Given the description of an element on the screen output the (x, y) to click on. 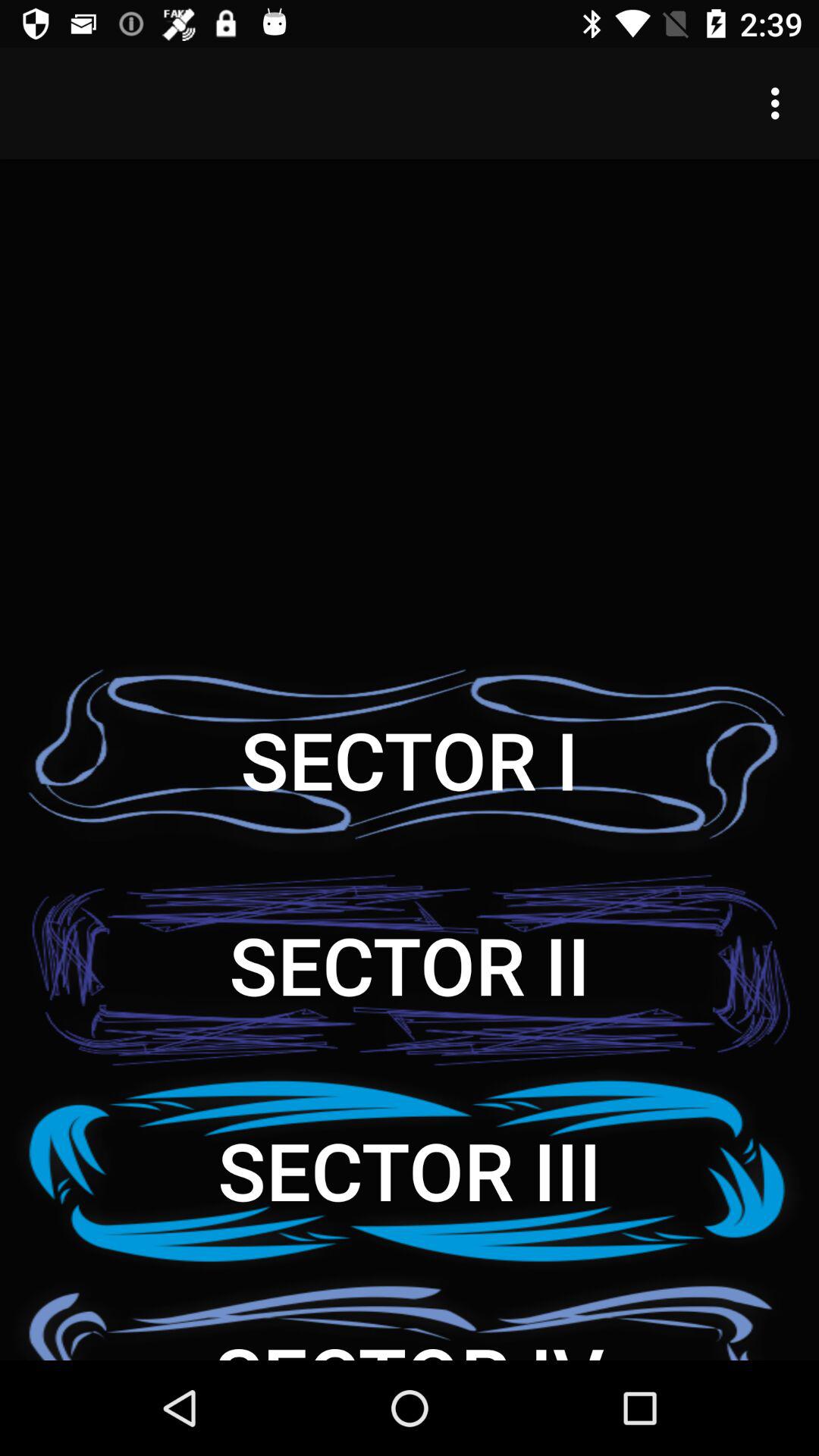
open item below sector i item (409, 964)
